Given the description of an element on the screen output the (x, y) to click on. 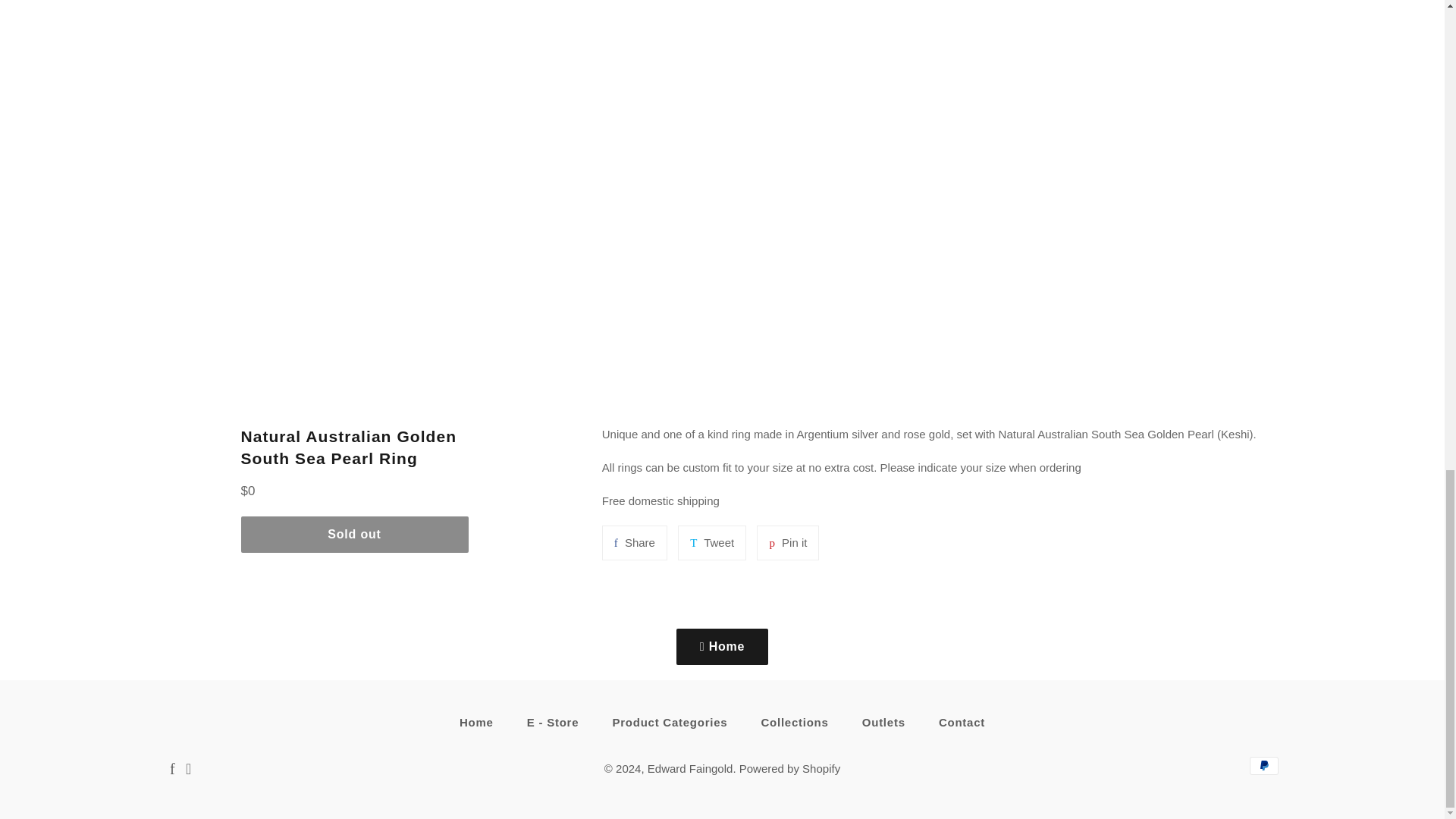
E - Store (553, 721)
Share on Facebook (634, 542)
Home (634, 542)
Tweet on Twitter (476, 721)
Powered by Shopify (711, 542)
Collections (789, 768)
Edward Faingold (711, 542)
PayPal (794, 721)
